Given the description of an element on the screen output the (x, y) to click on. 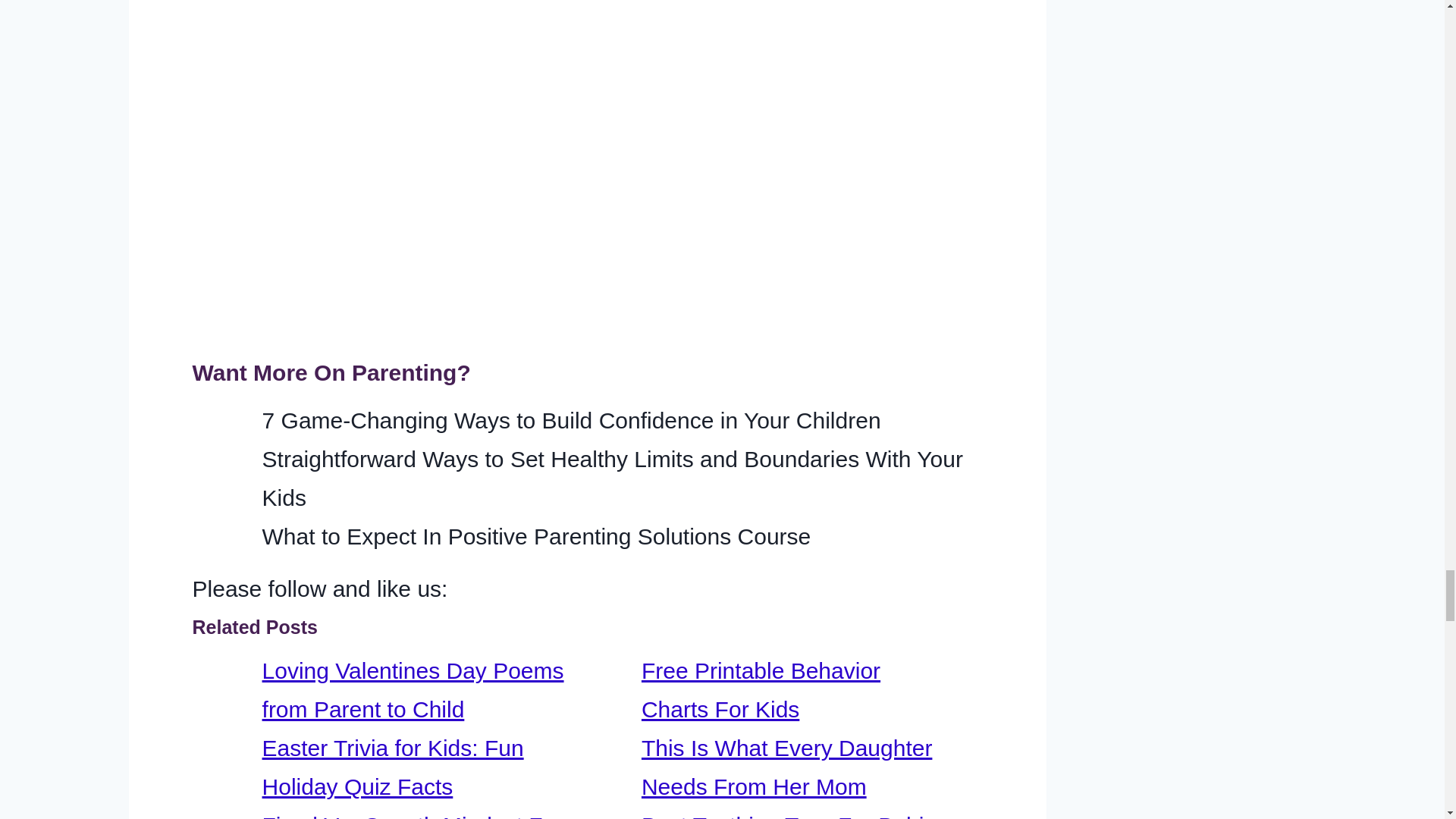
Easter Trivia for Kids: Fun Holiday Quiz Facts (393, 767)
Free Printable Behavior Charts For Kids (761, 689)
Best Teething Toys For Babies (794, 816)
Loving Valentines Day Poems from Parent to Child (413, 689)
Fixed Vs. Growth Mindset For Kids: Nurturing Potential (412, 816)
This Is What Every Daughter Needs From Her Mom (786, 767)
